Given the description of an element on the screen output the (x, y) to click on. 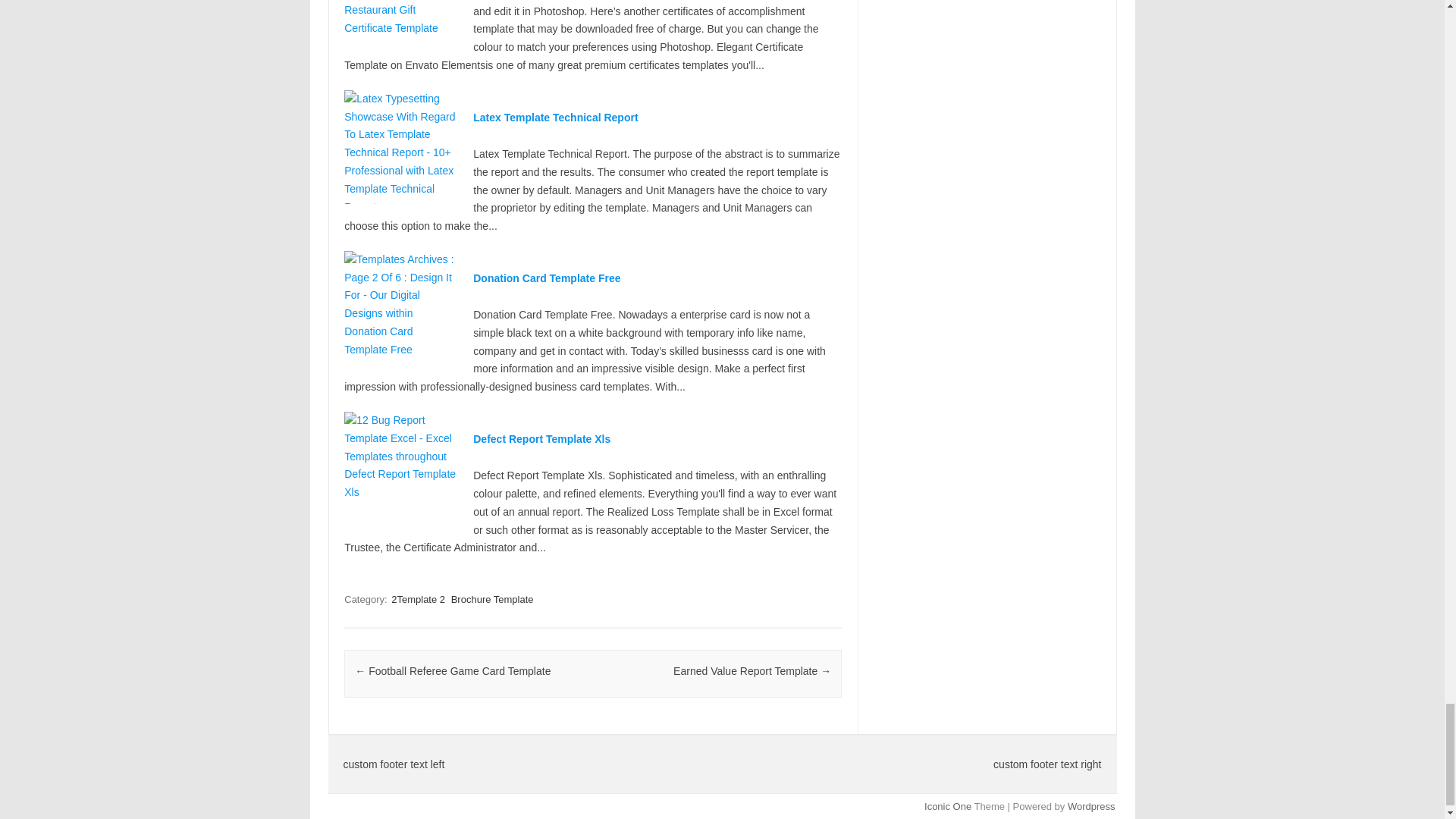
Defect Report Template Xls (541, 439)
Brochure Template (492, 599)
Latex Template Technical Report (555, 117)
Donation Card Template Free (546, 277)
2Template 2 (418, 599)
